Given the description of an element on the screen output the (x, y) to click on. 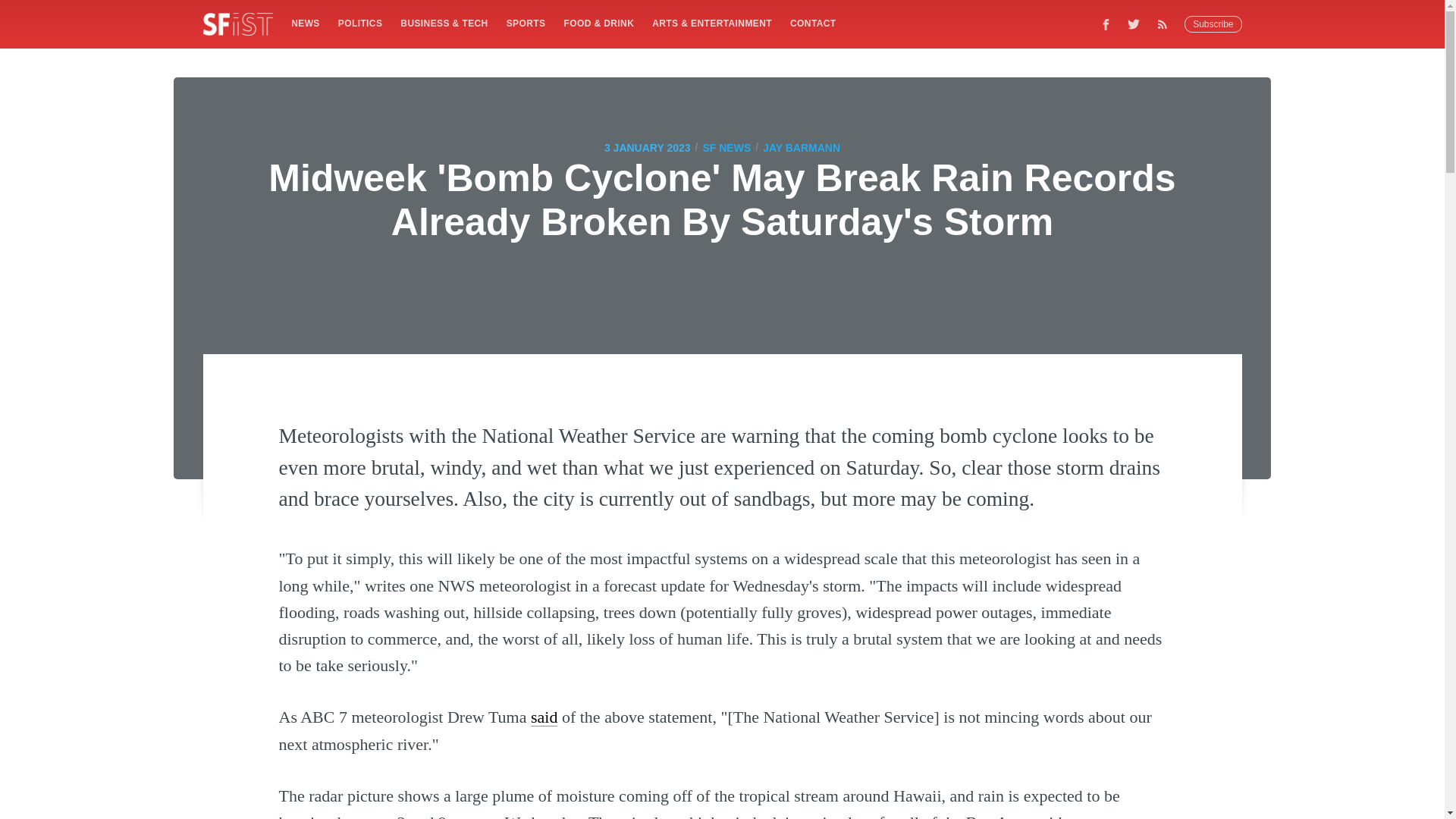
POLITICS (360, 23)
SPORTS (525, 23)
JAY BARMANN (801, 147)
SF NEWS (726, 147)
NEWS (305, 23)
Twitter (1133, 23)
Facebook (1106, 23)
said (544, 716)
CONTACT (812, 23)
RSS (1166, 23)
Subscribe (1213, 23)
